Given the description of an element on the screen output the (x, y) to click on. 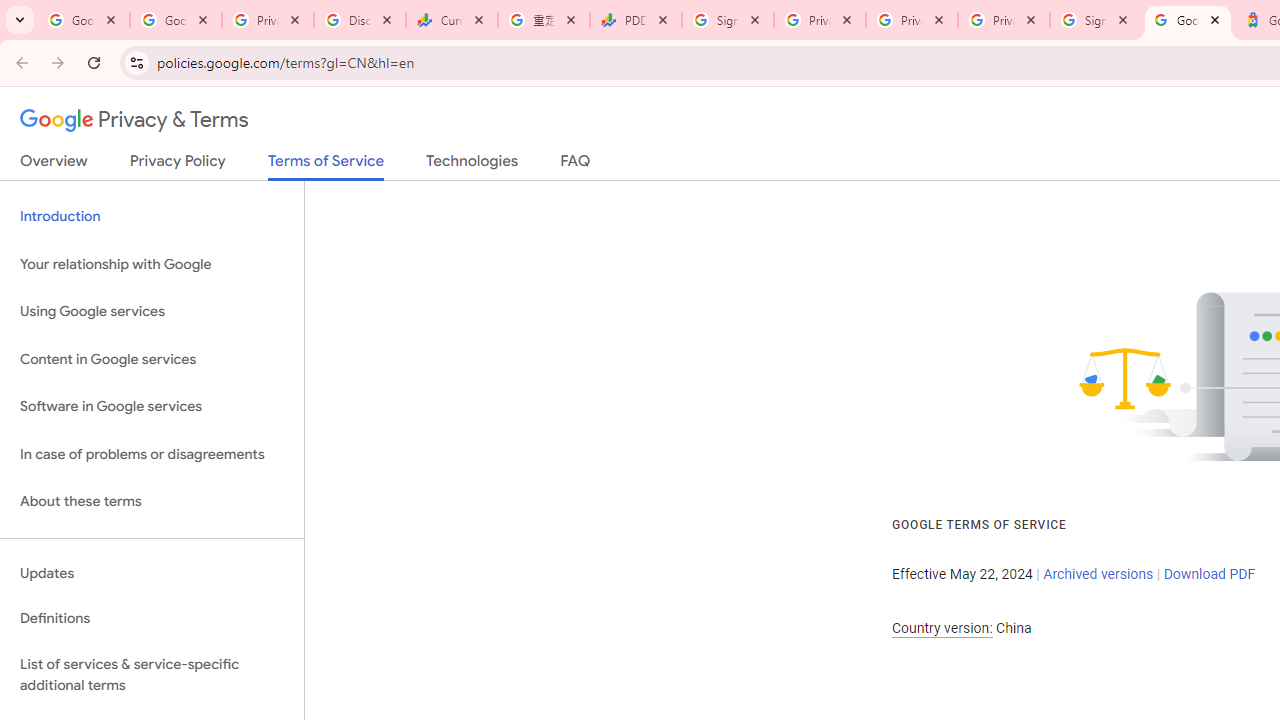
Sign in - Google Accounts (728, 20)
Privacy Checkup (911, 20)
In case of problems or disagreements (152, 453)
Download PDF (1209, 574)
Software in Google services (152, 407)
Currencies - Google Finance (451, 20)
Your relationship with Google (152, 263)
About these terms (152, 502)
